Given the description of an element on the screen output the (x, y) to click on. 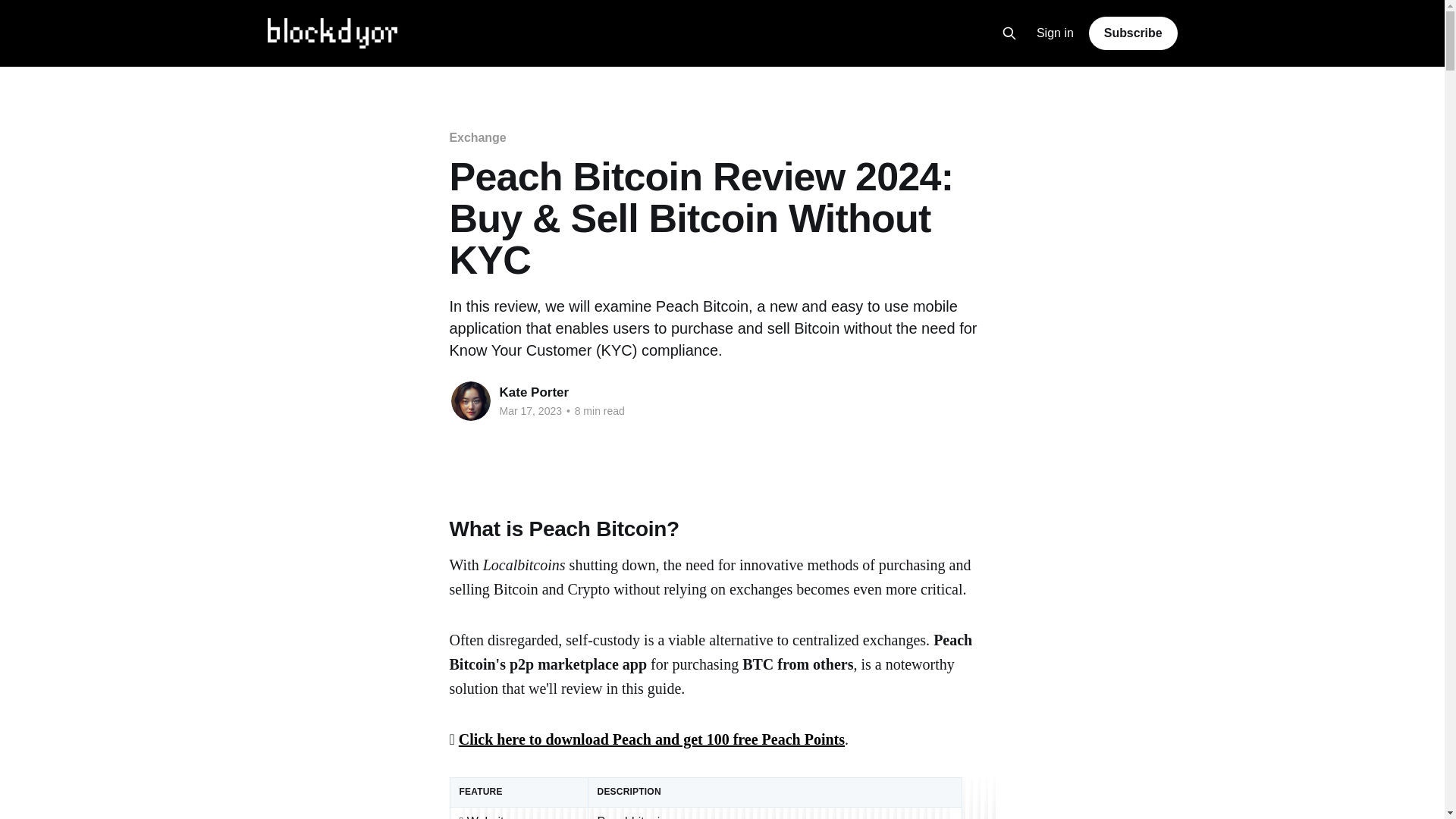
Subscribe (1133, 32)
Exchange (476, 137)
Sign in (1055, 33)
Kate Porter (534, 391)
Click here to download Peach and get 100 free Peach Points (651, 739)
